Given the description of an element on the screen output the (x, y) to click on. 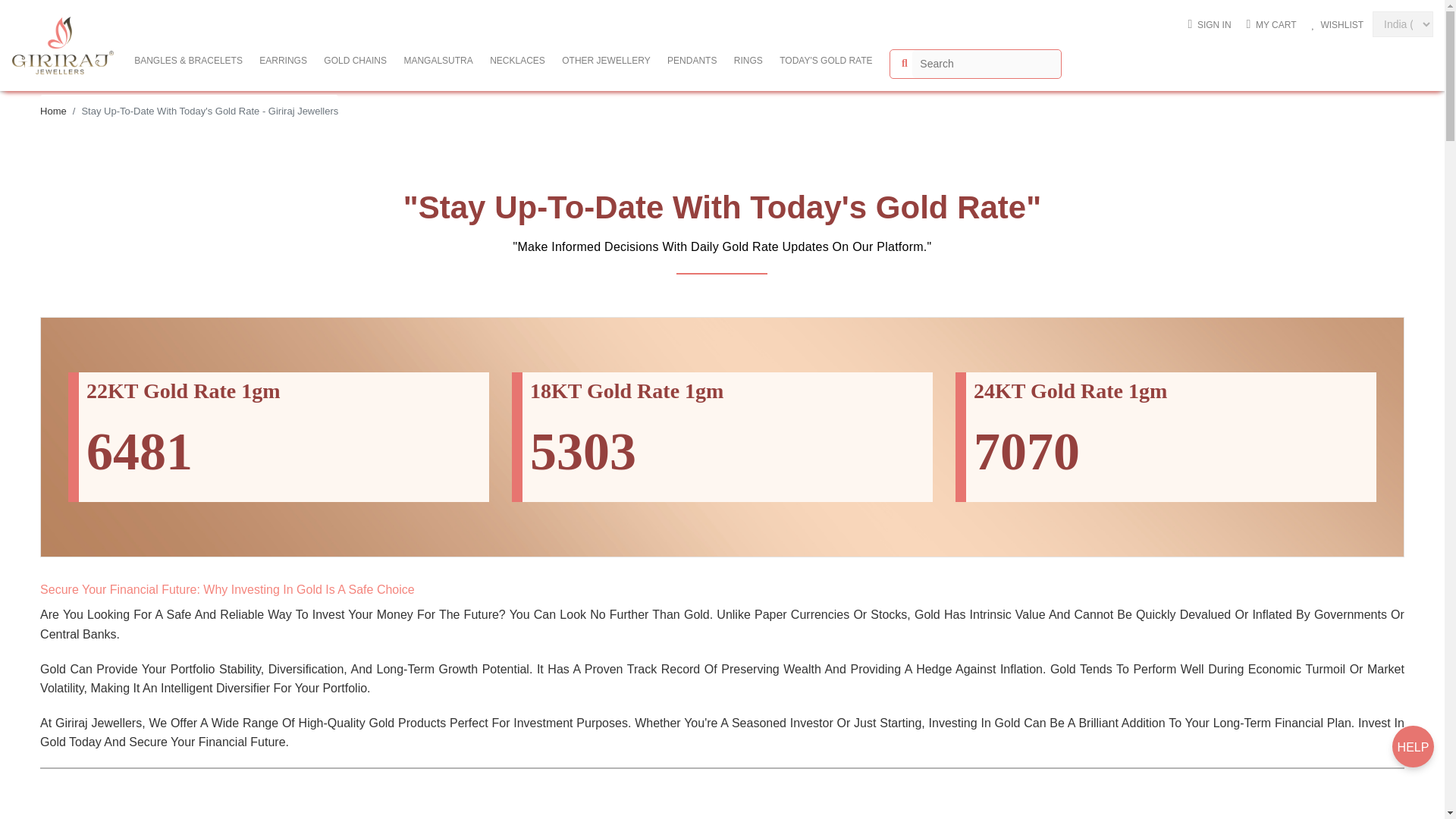
EARRINGS (283, 58)
NECKLACES (516, 58)
OTHER JEWELLERY (605, 58)
PENDANTS (691, 58)
MANGALSUTRA (437, 58)
GOLD CHAINS (355, 58)
